Given the description of an element on the screen output the (x, y) to click on. 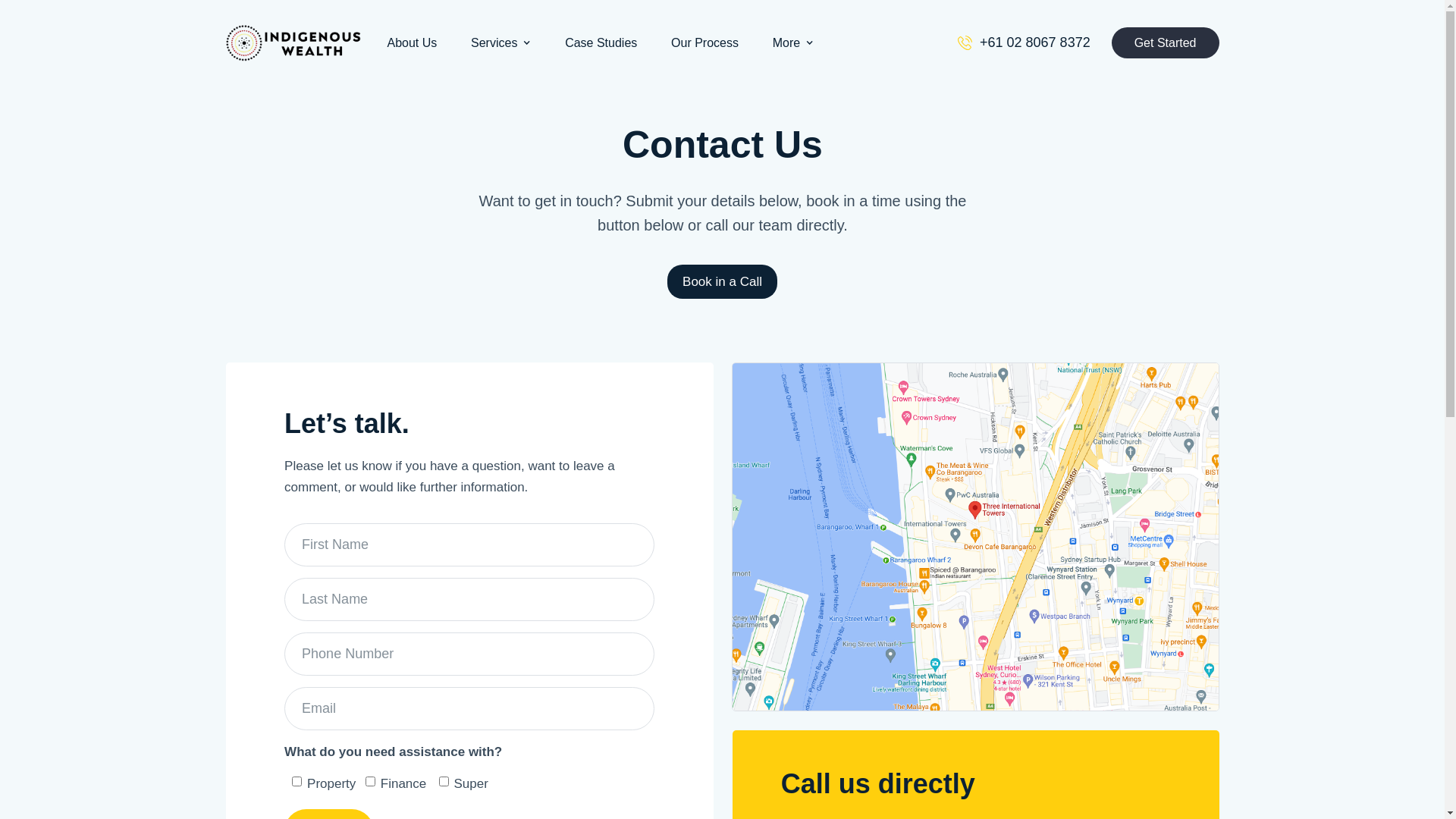
About Us Element type: text (411, 42)
Book in a Call Element type: text (722, 280)
Our Process Element type: text (704, 42)
+61 02 8067 8372 Element type: text (1023, 42)
Case Studies Element type: text (600, 42)
Get Started Element type: text (1165, 42)
